Given the description of an element on the screen output the (x, y) to click on. 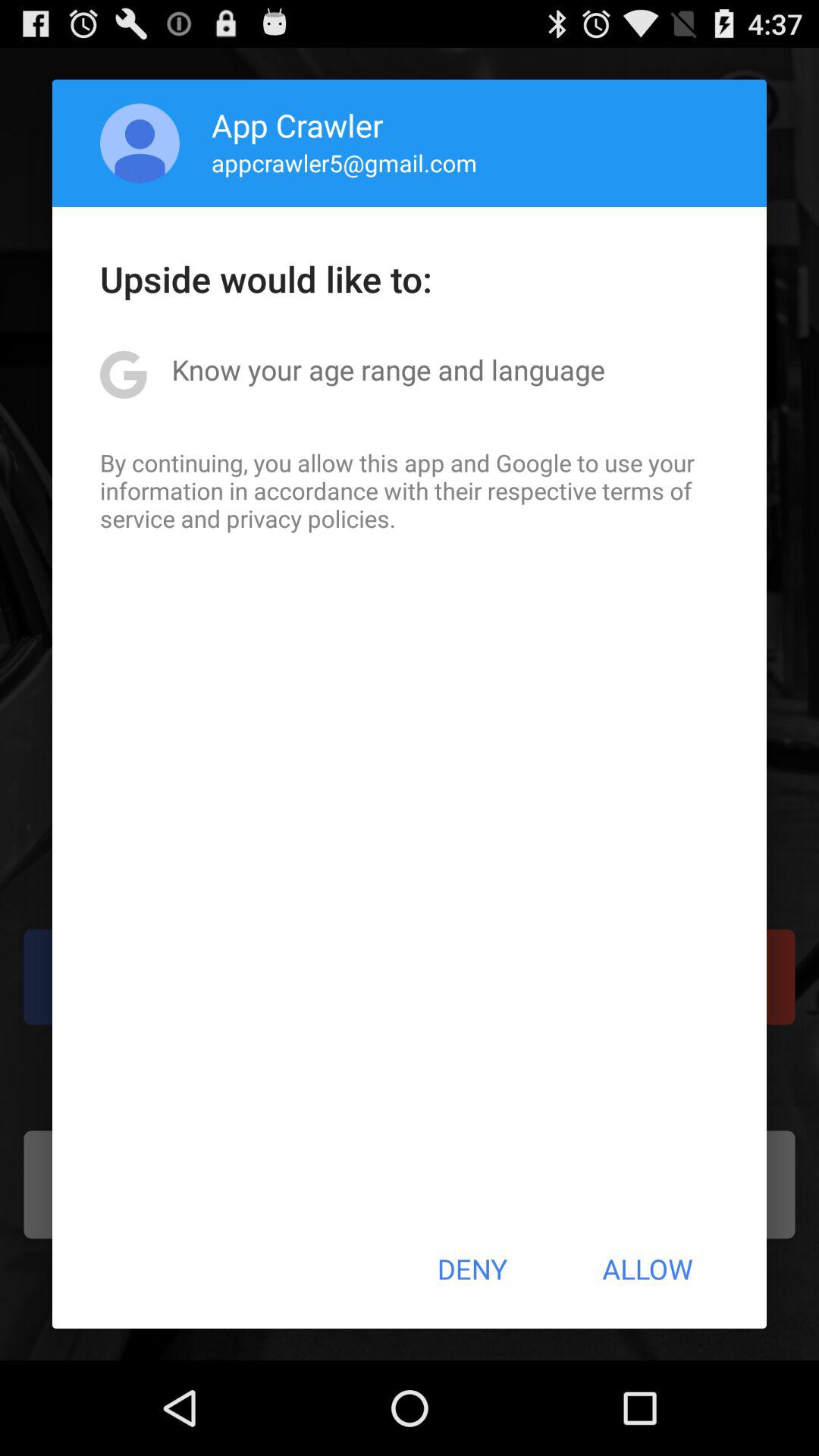
scroll until the know your age item (388, 369)
